Given the description of an element on the screen output the (x, y) to click on. 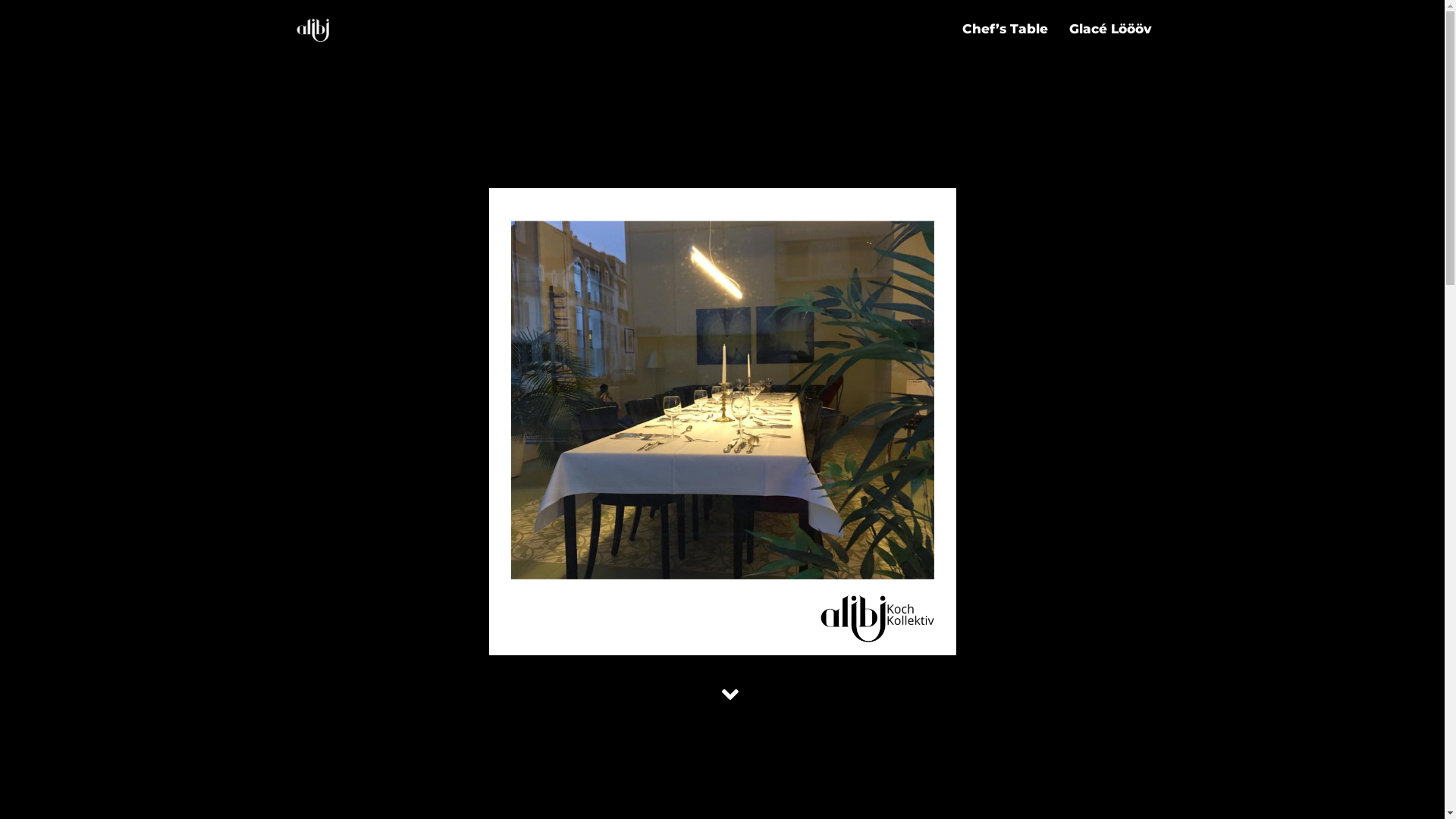
Impressum & Datenschutz Element type: text (1042, 702)
Chris Rohrer Element type: text (1095, 727)
Alibi Koch Kollektiv Element type: hover (312, 29)
Alibi Koch Kollektiv Element type: text (378, 702)
Zum Inhalt Element type: text (11, 31)
